Given the description of an element on the screen output the (x, y) to click on. 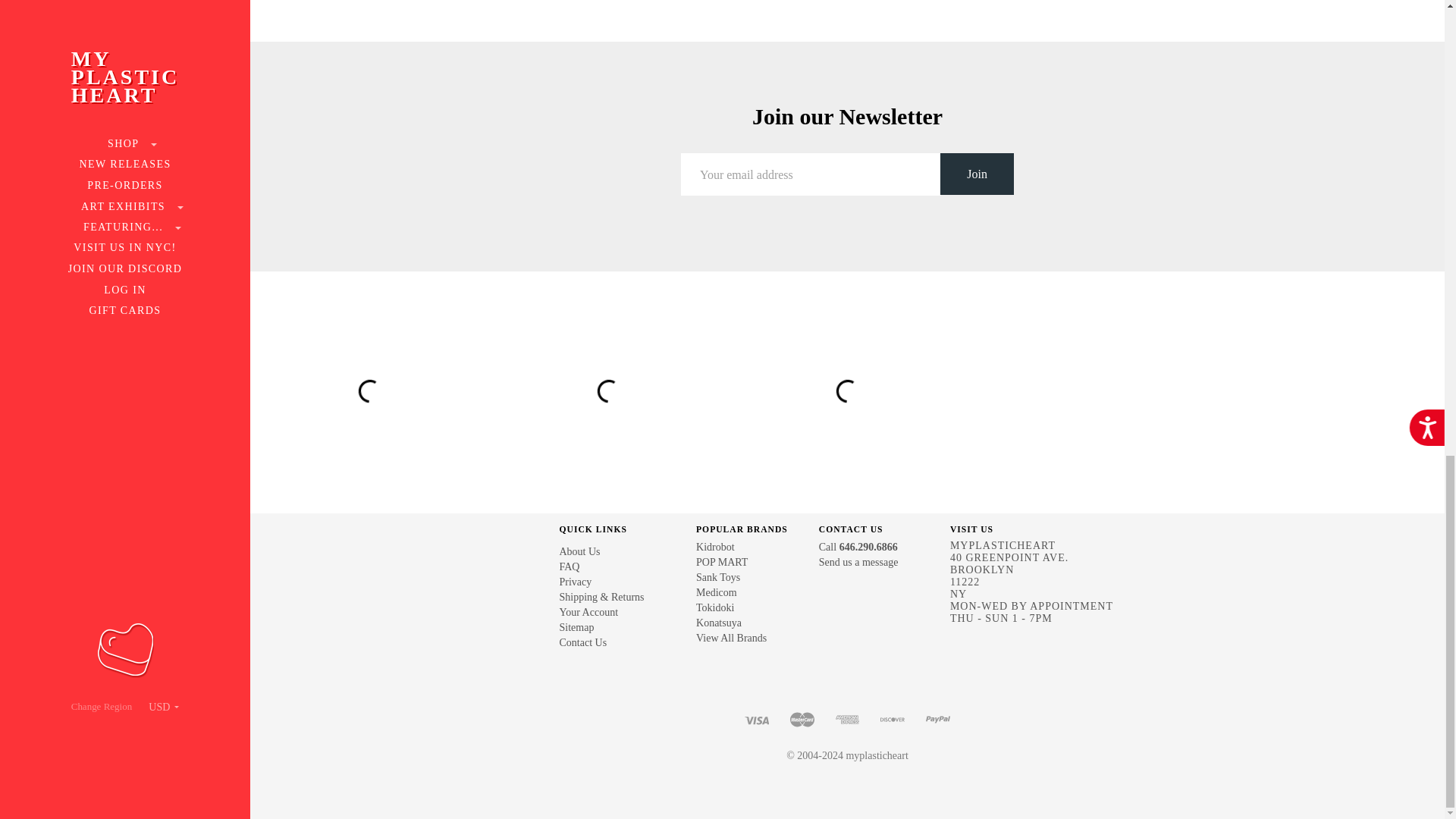
Join (976, 173)
